Given the description of an element on the screen output the (x, y) to click on. 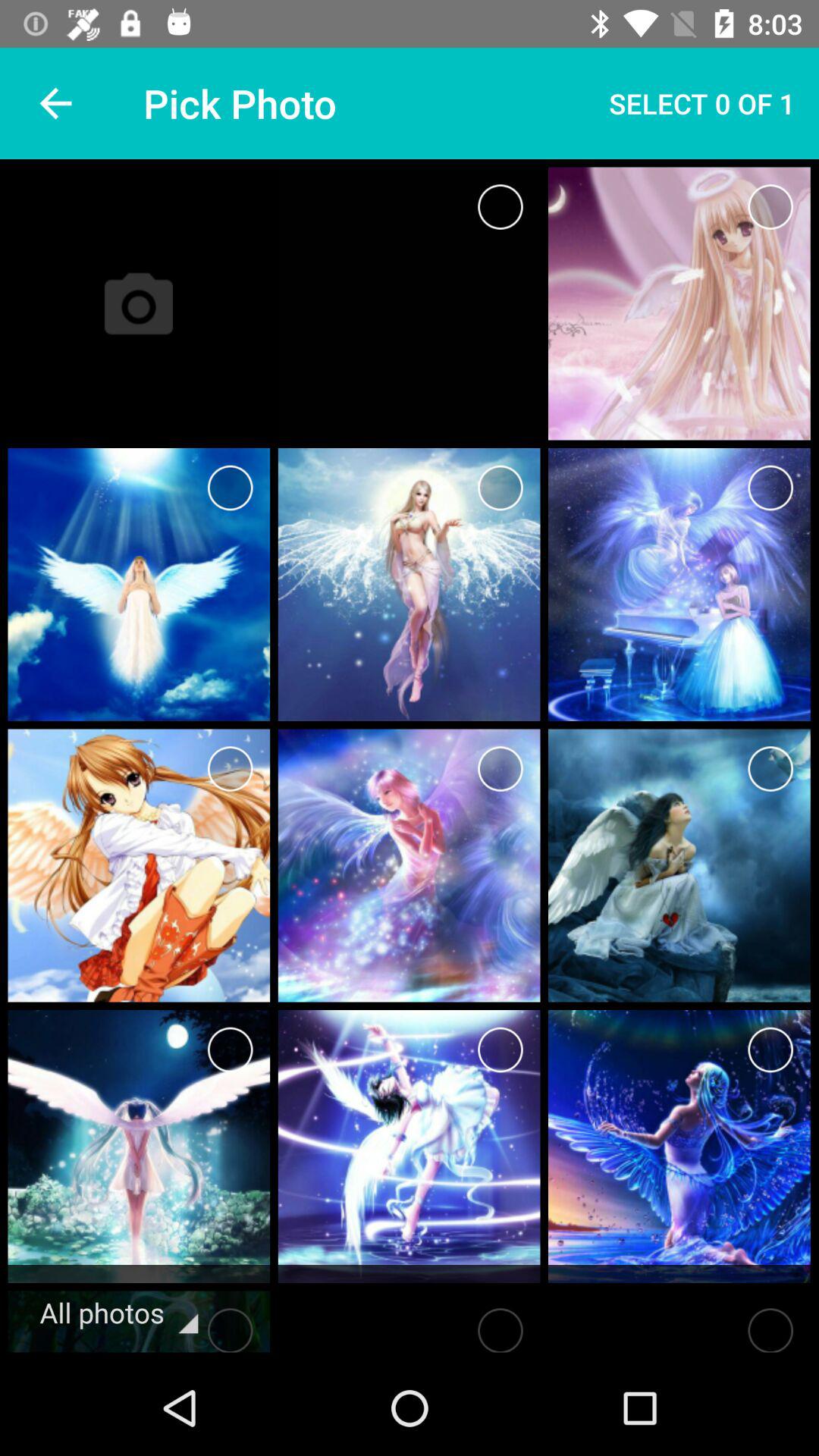
select photo (230, 768)
